Given the description of an element on the screen output the (x, y) to click on. 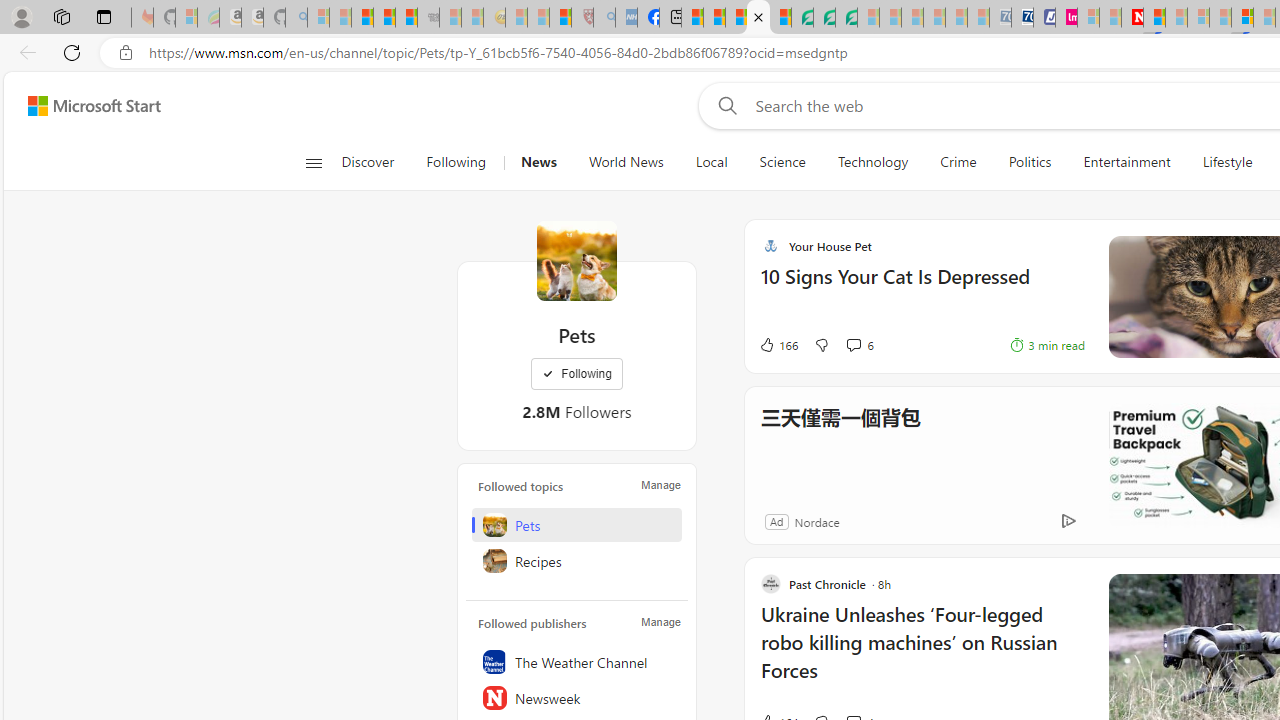
Manage (660, 621)
Pets (576, 260)
166 Like (778, 344)
Latest Politics News & Archive | Newsweek.com (1132, 17)
